Given the description of an element on the screen output the (x, y) to click on. 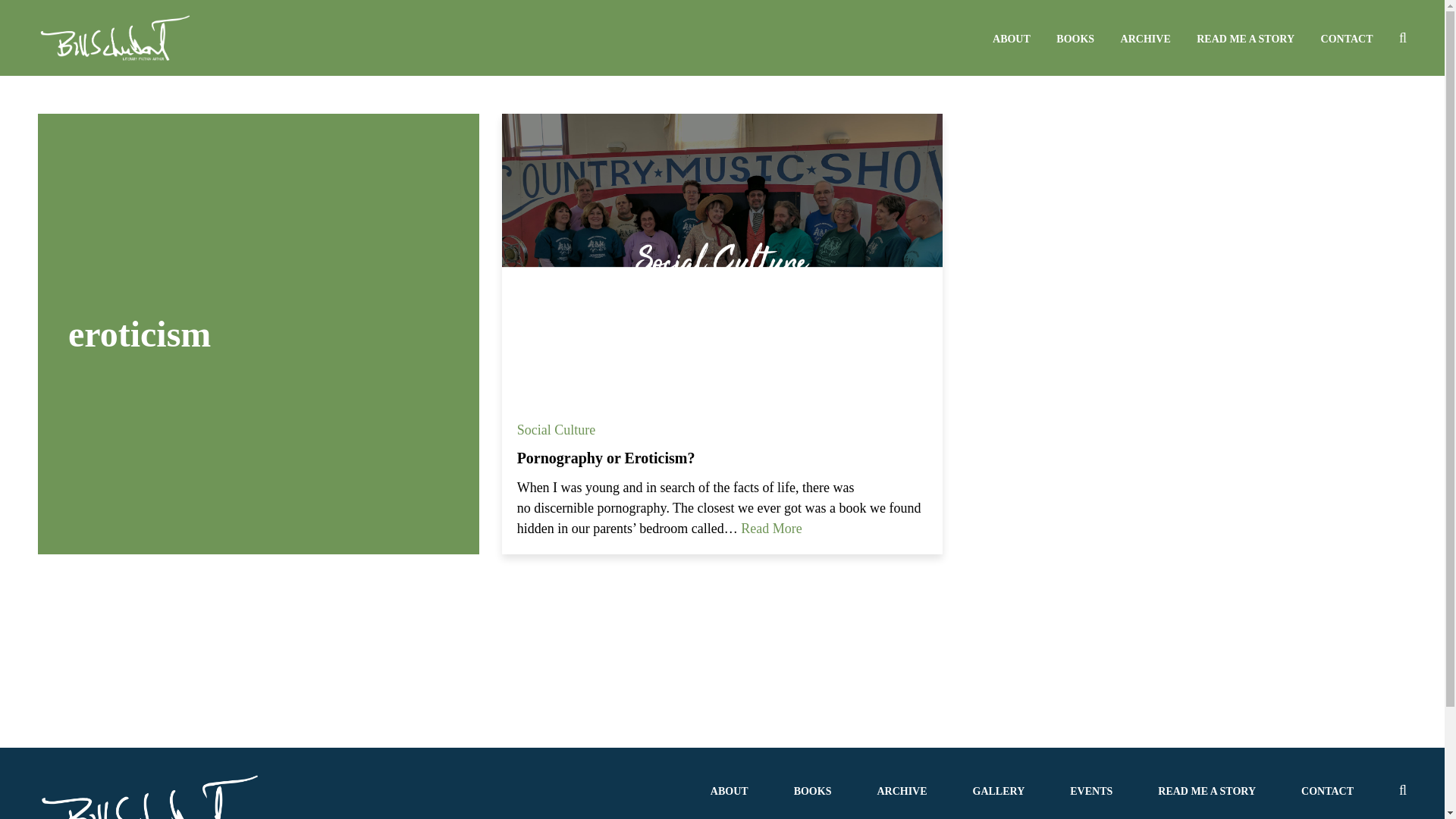
CONTACT (1327, 790)
Pornography or Eroticism? (605, 457)
ARCHIVE (901, 790)
GALLERY (998, 790)
BOOKS (812, 790)
Read More (771, 528)
ARCHIVE (1145, 39)
CONTACT (1346, 39)
READ ME A STORY (1245, 39)
READ ME A STORY (1206, 790)
